Given the description of an element on the screen output the (x, y) to click on. 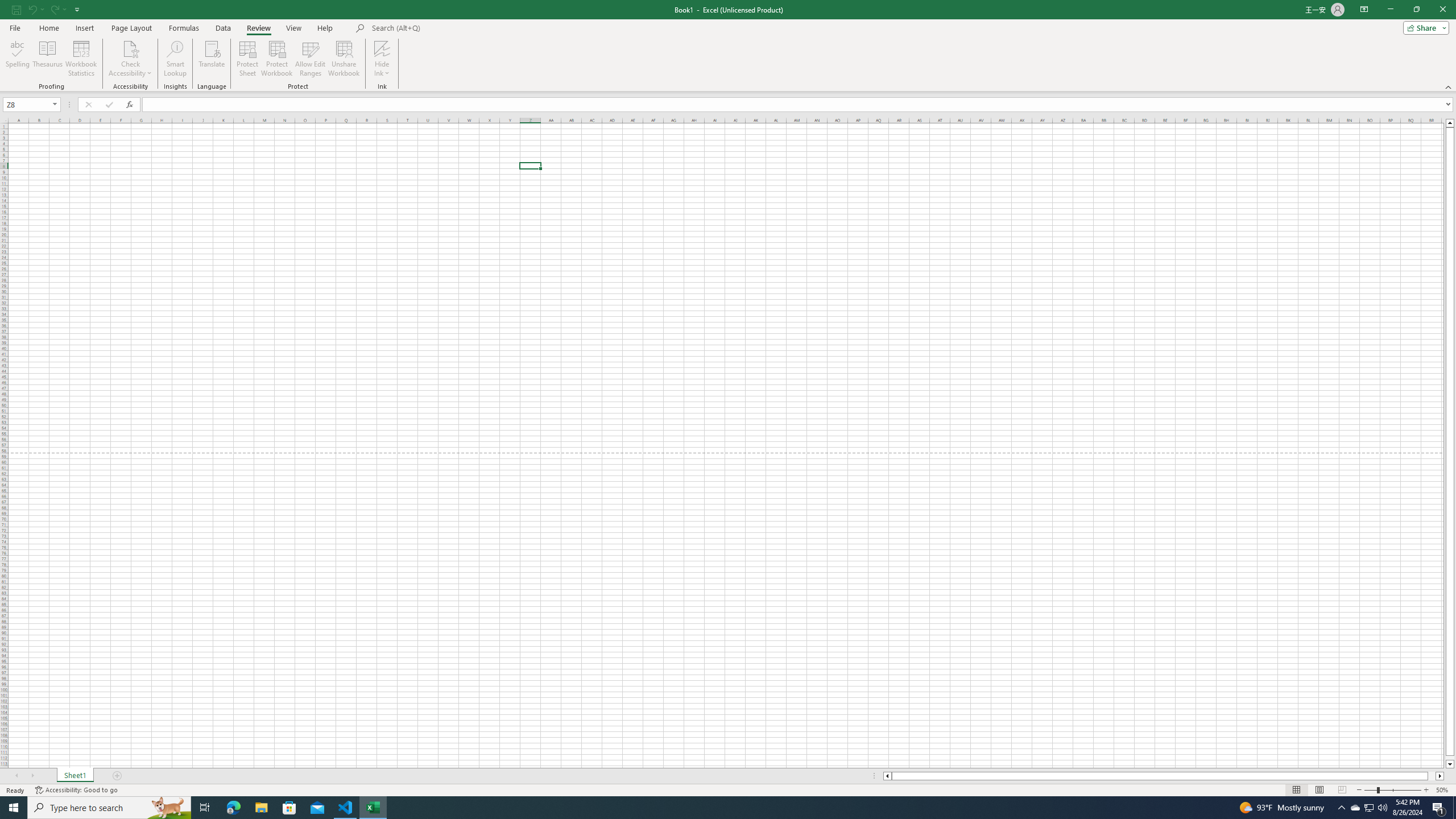
Allow Edit Ranges (310, 58)
Protect Workbook... (277, 58)
Protect Sheet... (247, 58)
